Given the description of an element on the screen output the (x, y) to click on. 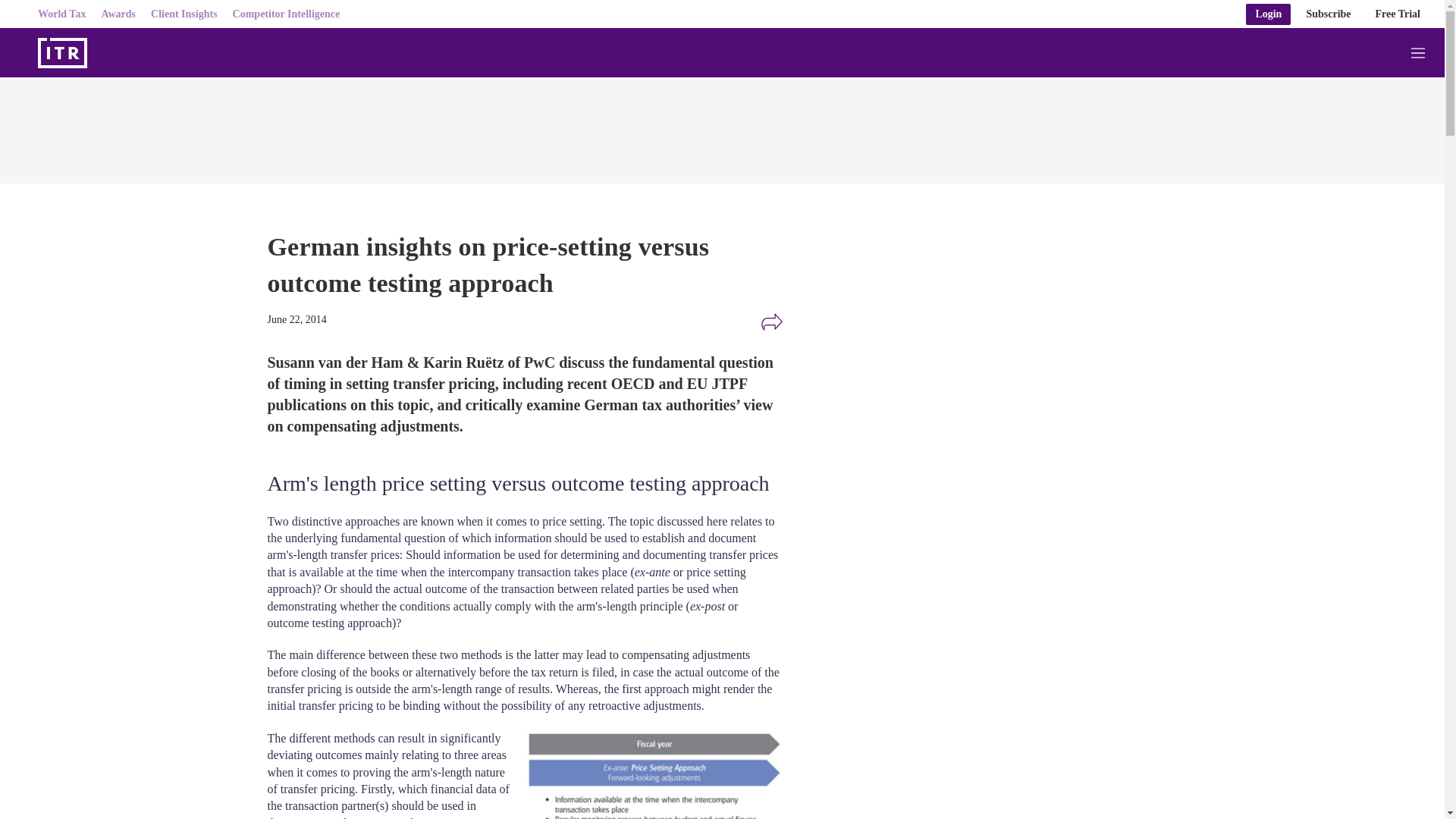
World Tax (61, 13)
Subscribe (1328, 13)
Awards (117, 13)
Client Insights (183, 13)
3rd party ad content (979, 339)
Free Trial (1398, 13)
Share (771, 322)
Competitor Intelligence (286, 13)
Login (1268, 13)
3rd party ad content (979, 543)
